Given the description of an element on the screen output the (x, y) to click on. 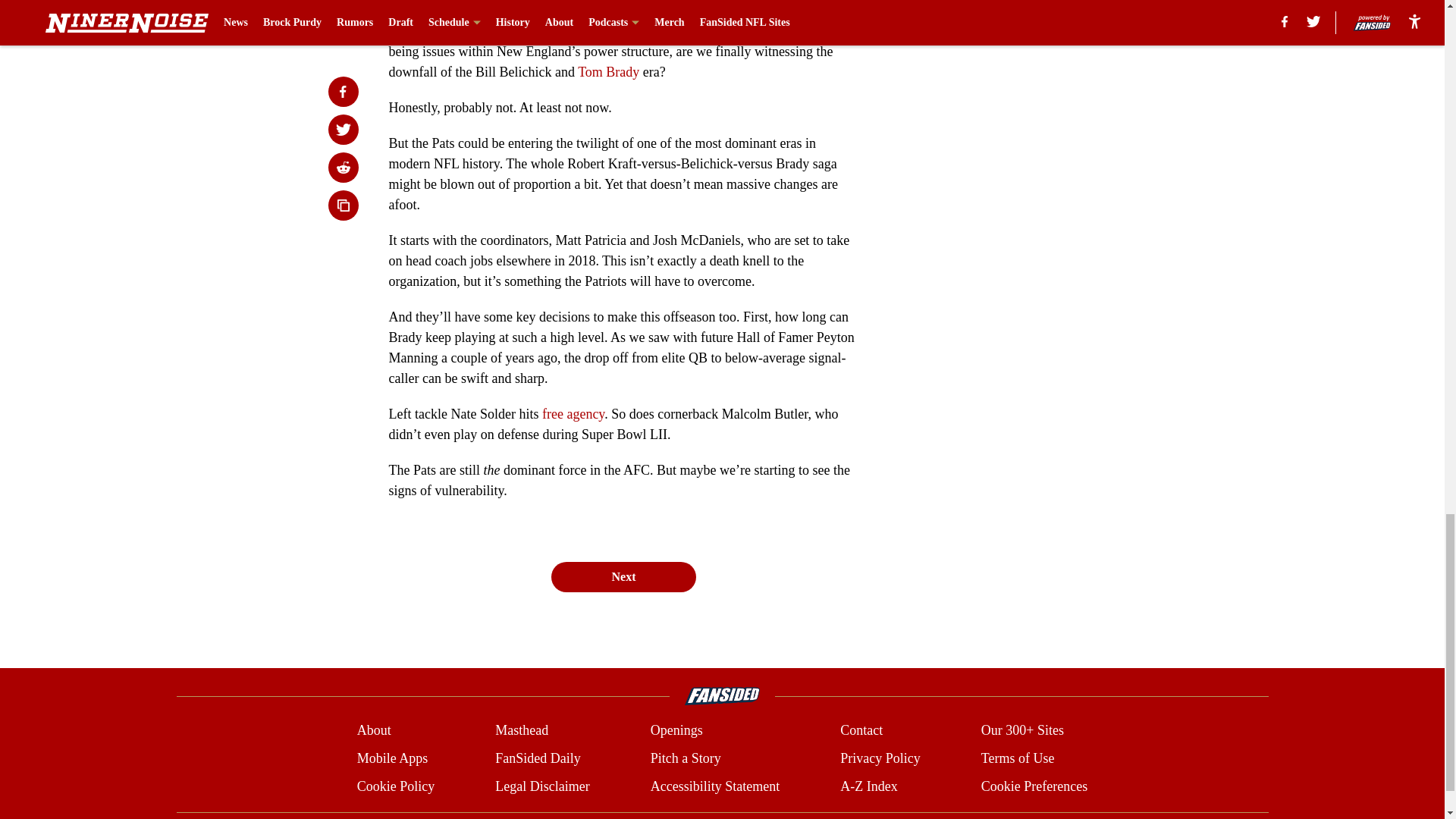
Openings (676, 730)
Mobile Apps (392, 758)
Next (622, 576)
About (373, 730)
Contact (861, 730)
Tom Brady (608, 71)
free agency (572, 413)
FanSided Daily (537, 758)
Privacy Policy (880, 758)
Masthead (521, 730)
